Given the description of an element on the screen output the (x, y) to click on. 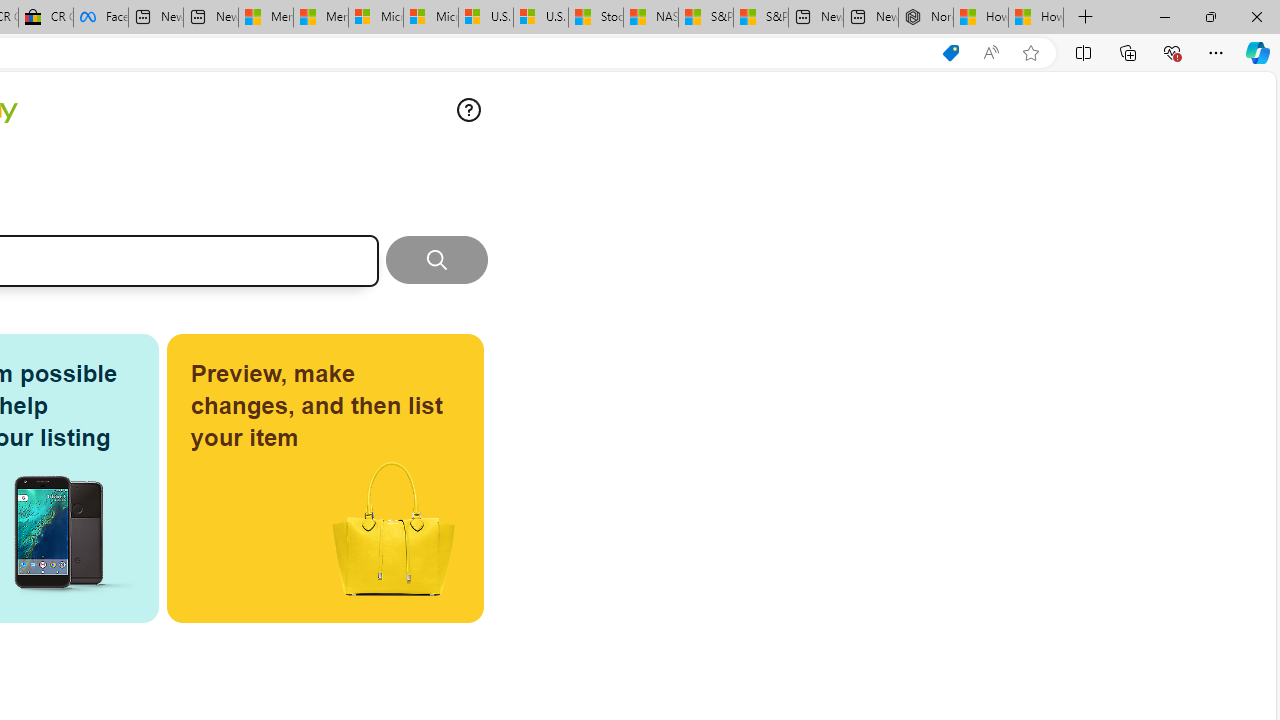
This site has coupons! Shopping in Microsoft Edge (950, 53)
